Given the description of an element on the screen output the (x, y) to click on. 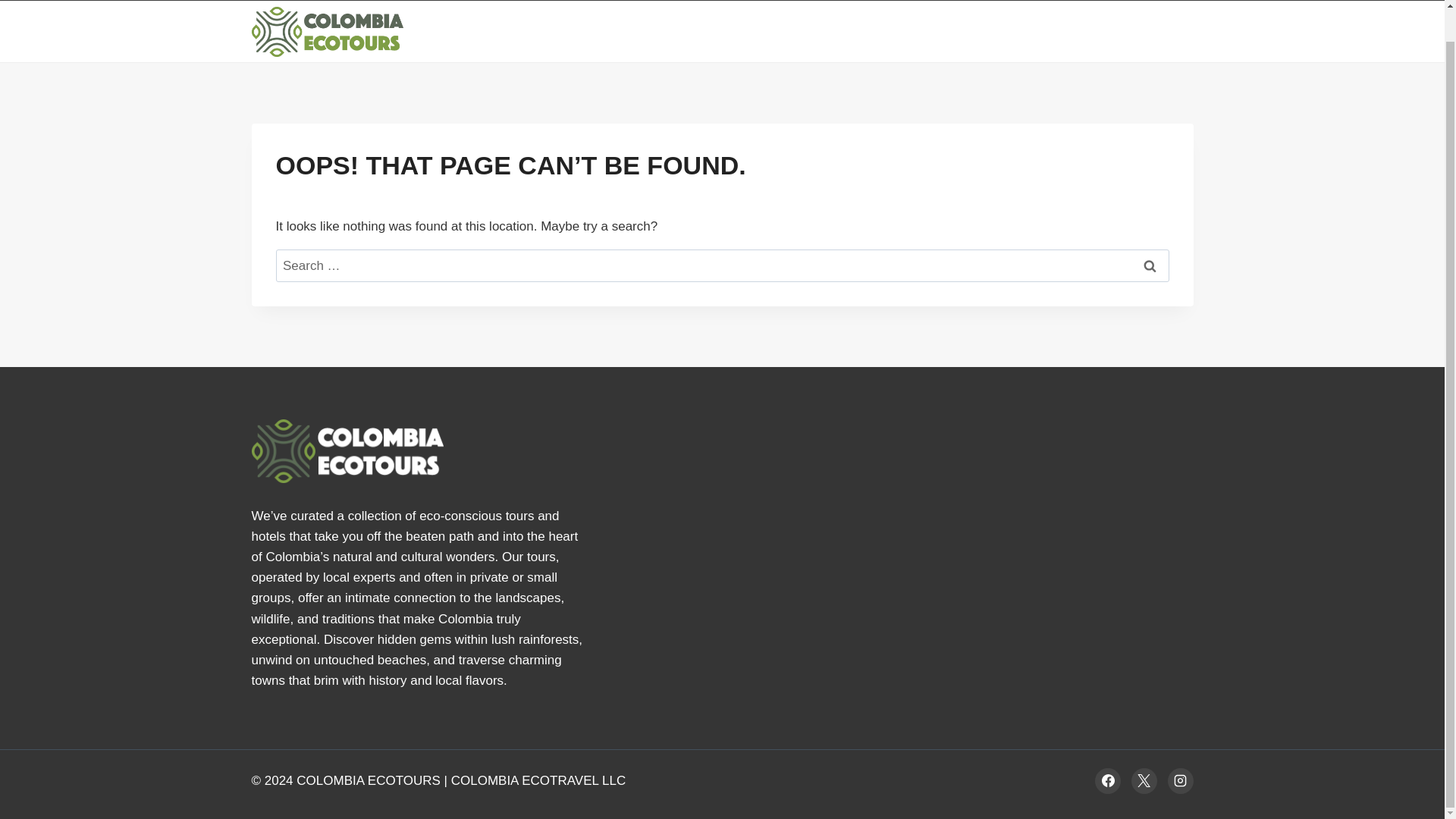
Search (1150, 265)
Search (1150, 265)
COLOMBIA ECOTRAVEL LLC (538, 780)
Search (1150, 265)
